Given the description of an element on the screen output the (x, y) to click on. 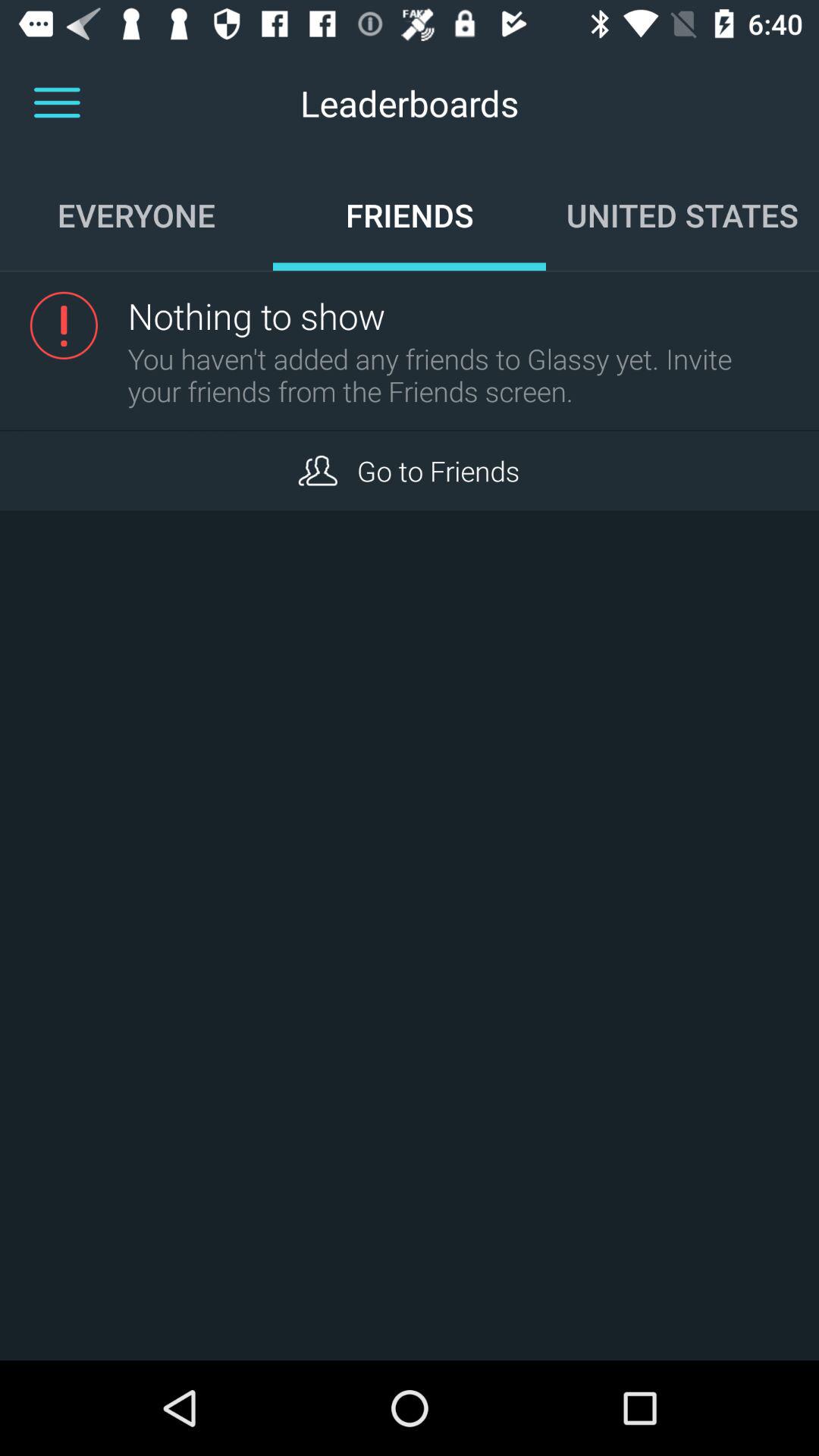
go to contact (317, 470)
